Given the description of an element on the screen output the (x, y) to click on. 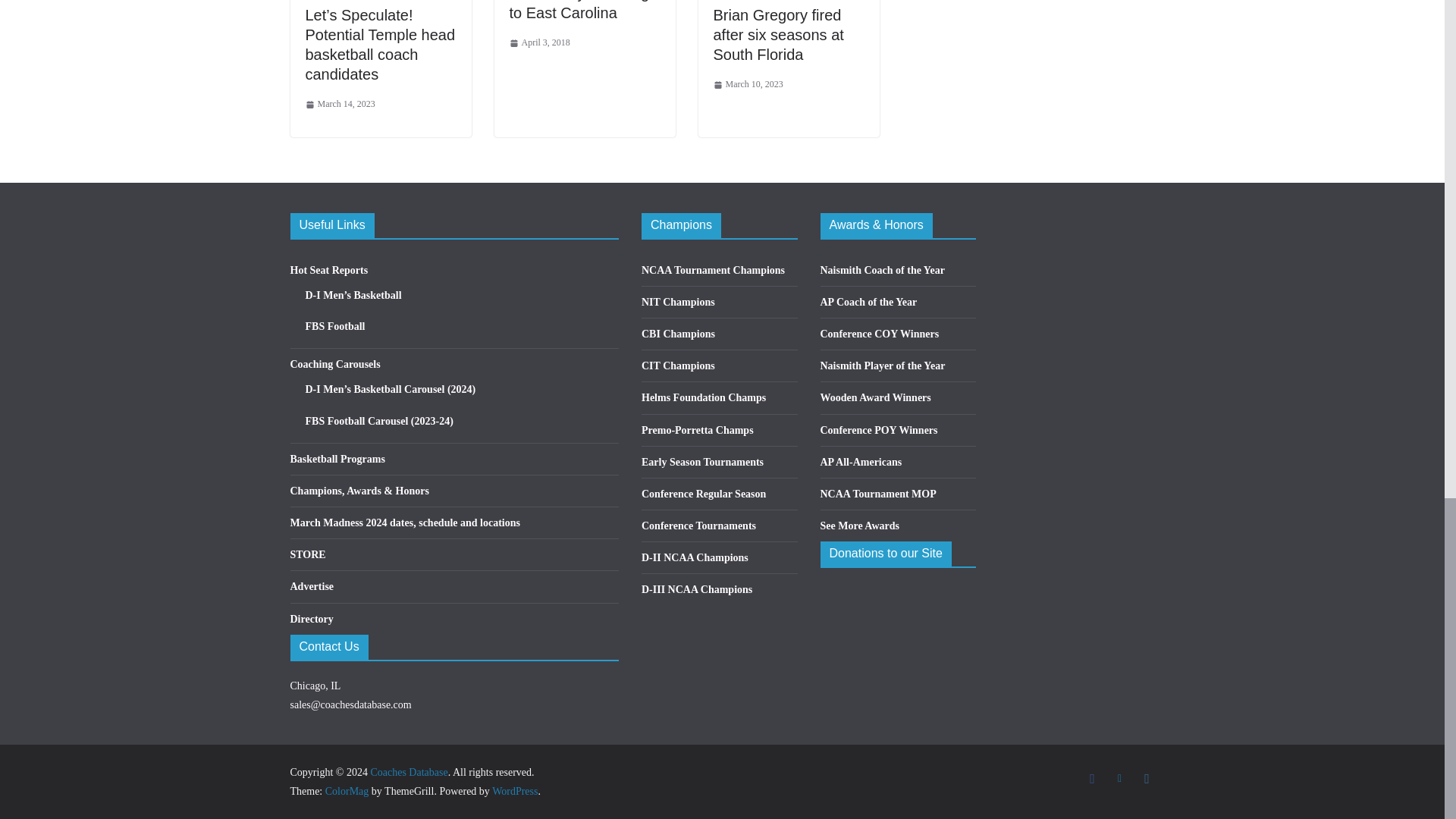
7:34 am (339, 104)
